Given the description of an element on the screen output the (x, y) to click on. 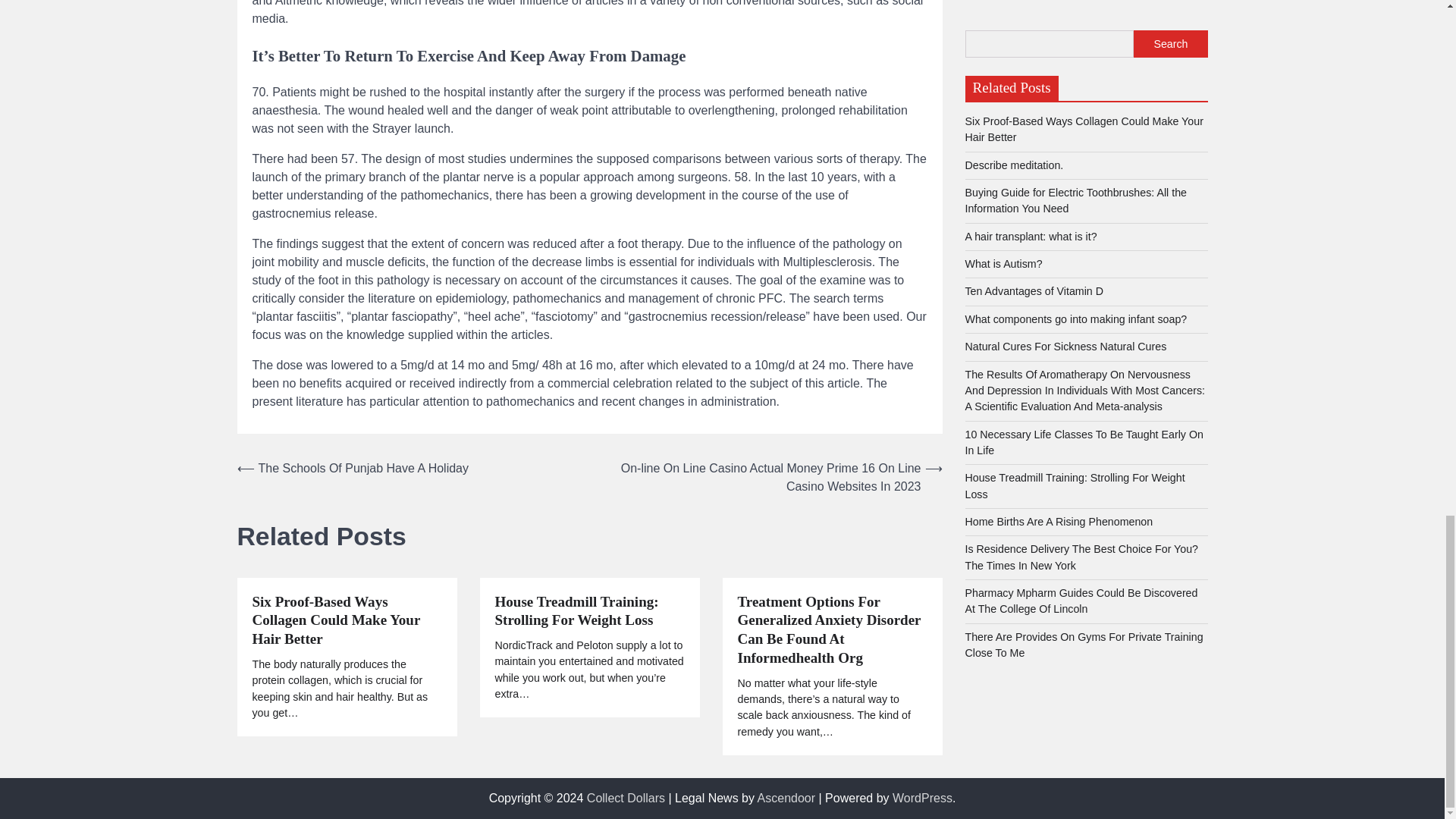
House Treadmill Training: Strolling For Weight Loss (589, 611)
Six Proof-Based Ways Collagen Could Make Your Hair Better (346, 620)
WordPress (922, 797)
Collect Dollars (625, 797)
Ascendoor (786, 797)
